Given the description of an element on the screen output the (x, y) to click on. 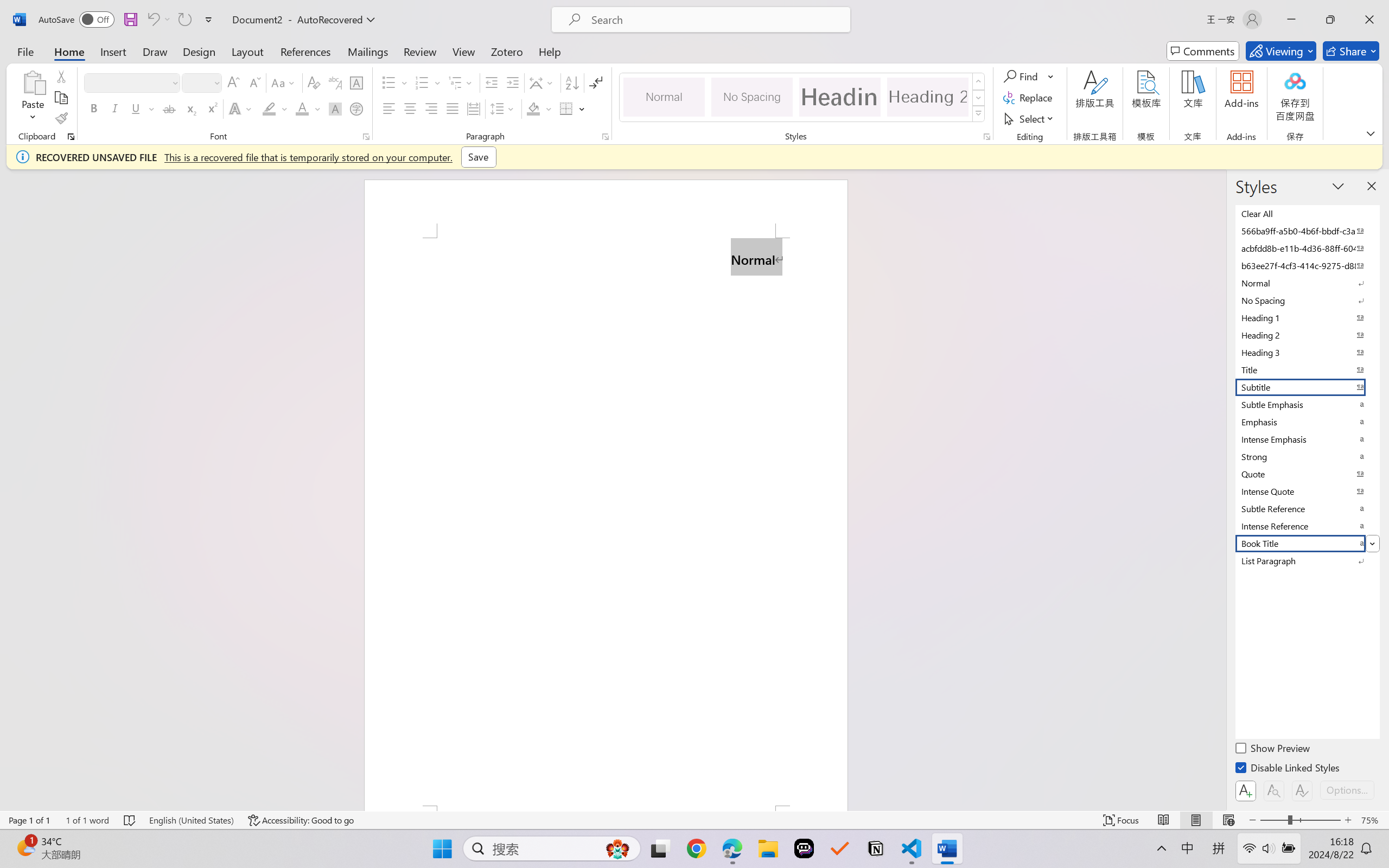
Grow Font (233, 82)
Shading RGB(0, 0, 0) (533, 108)
Shading (539, 108)
Clear Formatting (313, 82)
Styles... (986, 136)
Normal (1306, 282)
Disable Linked Styles (1287, 769)
Justify (452, 108)
Character Shading (334, 108)
